Given the description of an element on the screen output the (x, y) to click on. 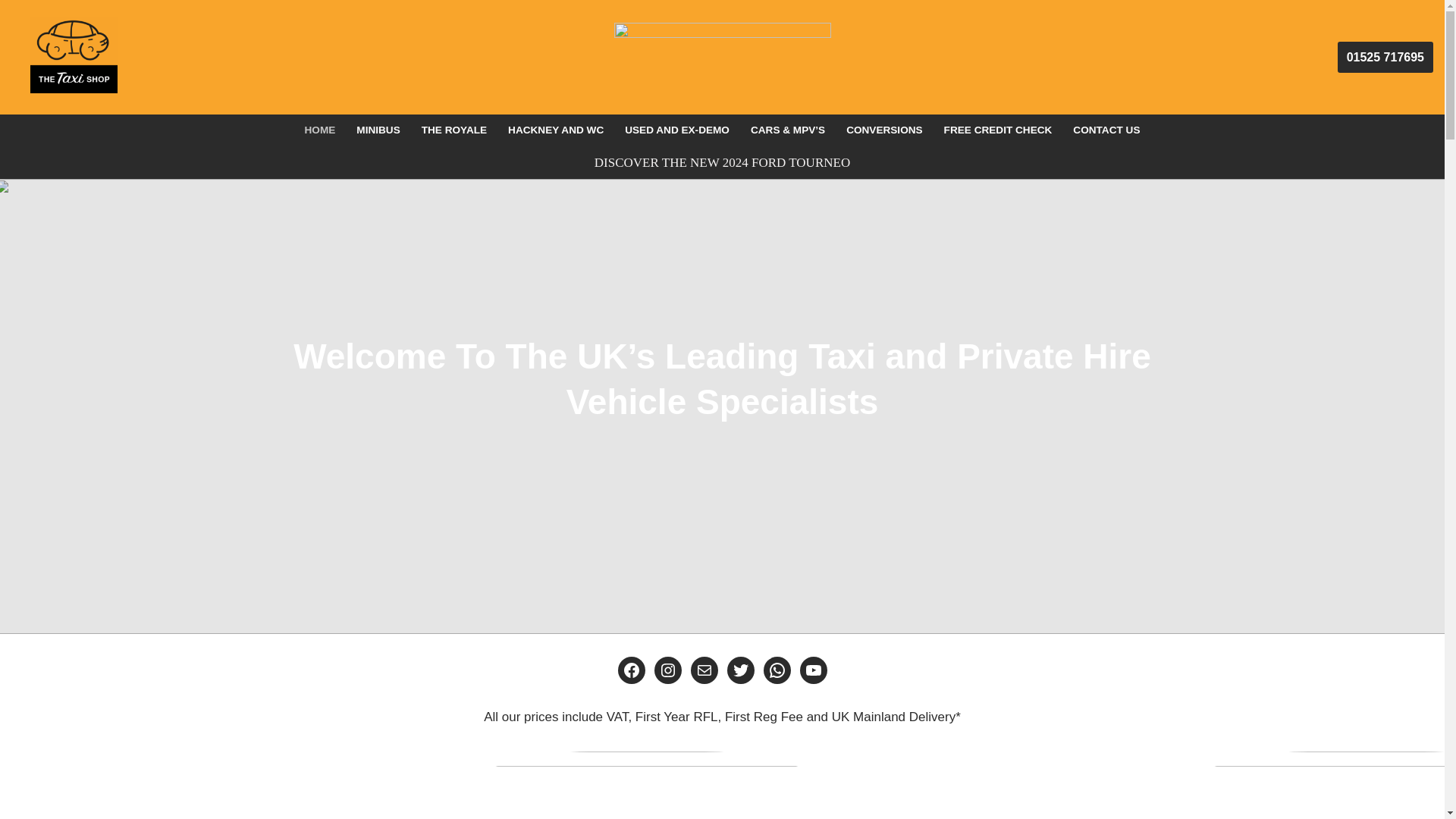
HOME (320, 129)
HACKNEY AND WC (556, 129)
01525 717695 (1385, 57)
CONTACT US (1106, 129)
CONVERSIONS (883, 129)
THE ROYALE (454, 129)
DISCOVER THE NEW 2024 FORD TOURNEO (722, 161)
MINIBUS (377, 129)
USED AND EX-DEMO (676, 129)
FREE CREDIT CHECK (997, 129)
Skip to content (11, 31)
